Given the description of an element on the screen output the (x, y) to click on. 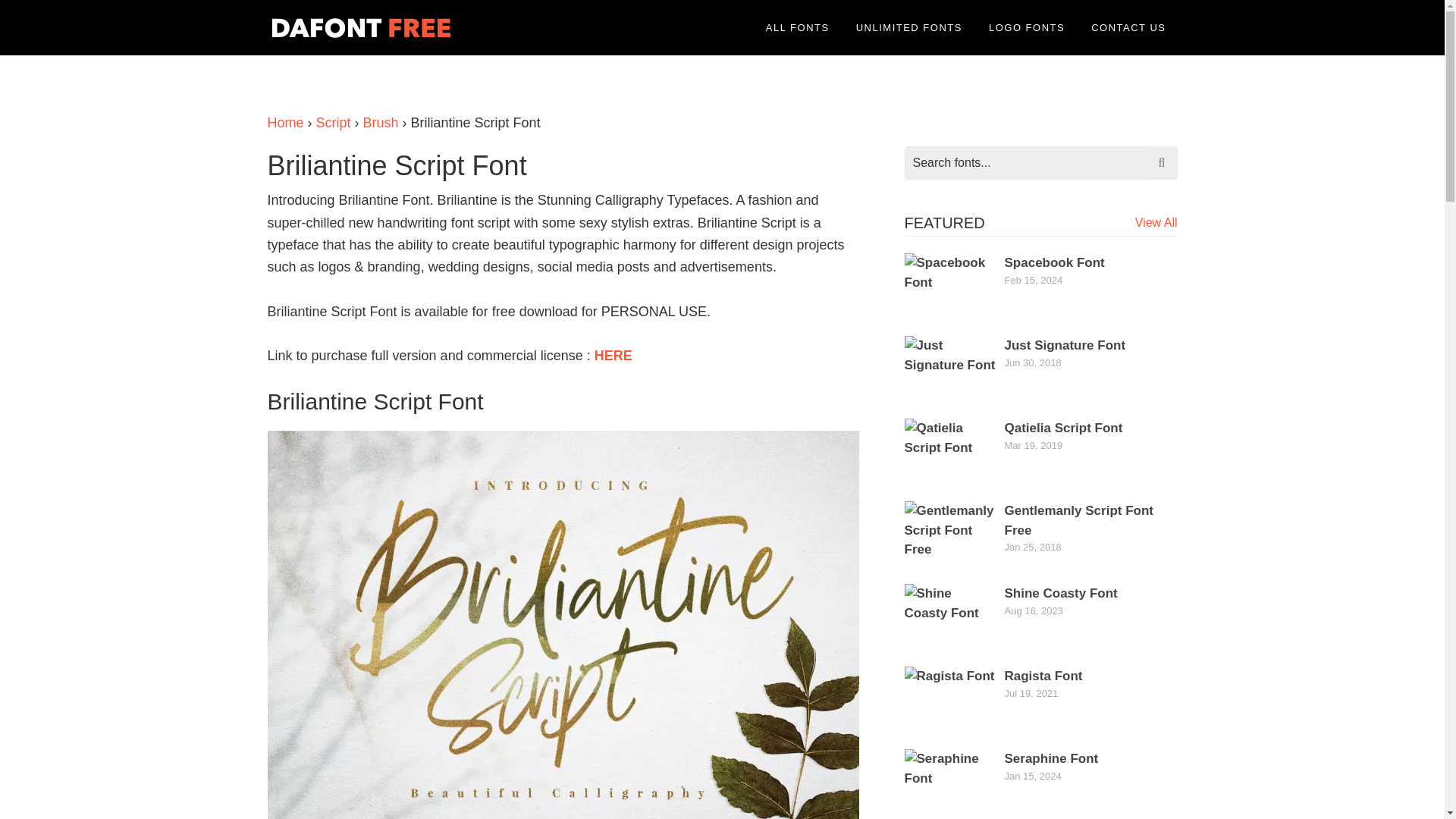
HERE (612, 355)
Brush (380, 122)
LOGO FONTS (1025, 27)
UNLIMITED FONTS (909, 27)
Home (284, 122)
Script (332, 122)
ALL FONTS (797, 27)
CONTACT US (1128, 27)
